Given the description of an element on the screen output the (x, y) to click on. 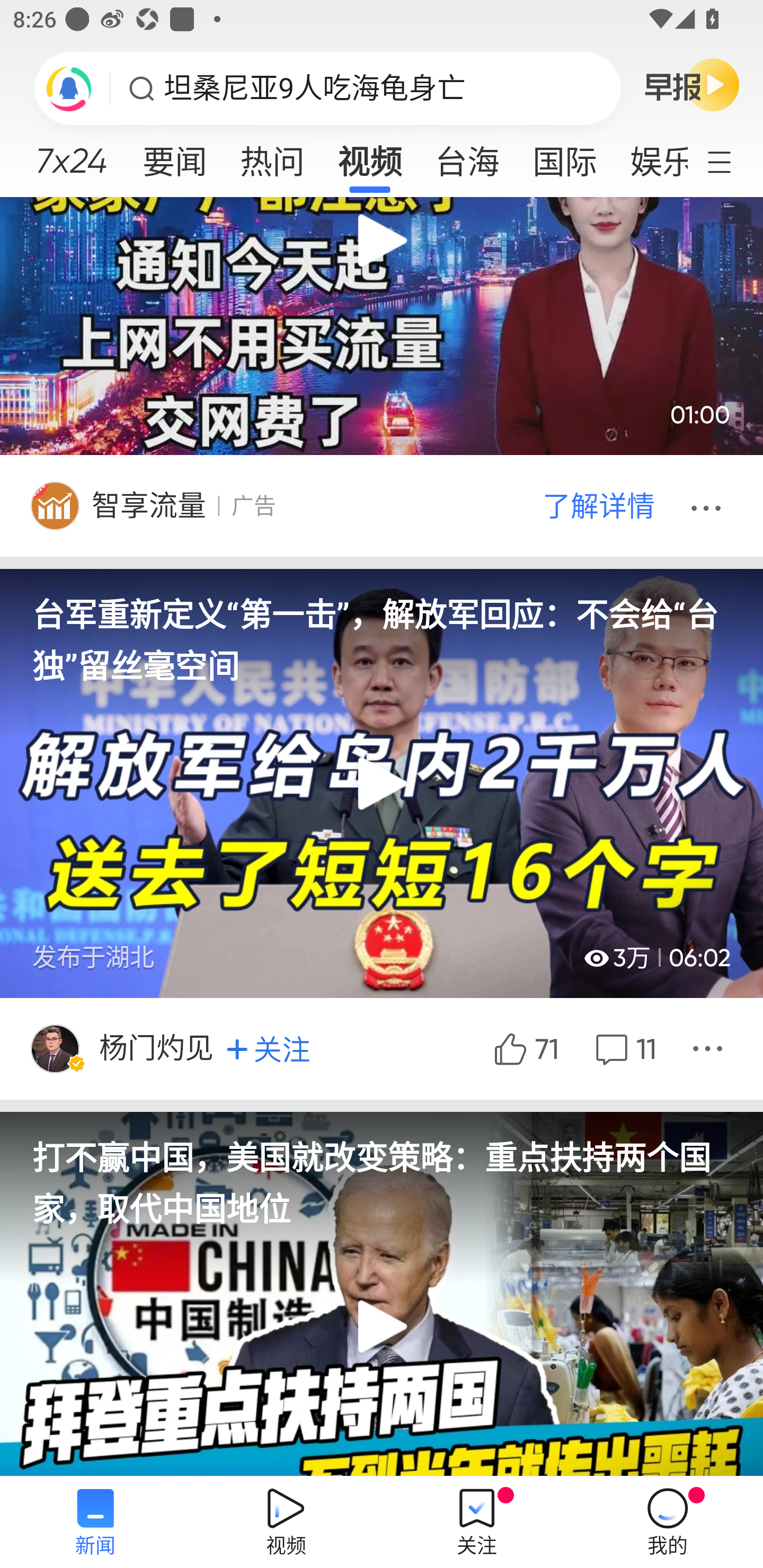
早晚报 (691, 84)
刷新 (68, 88)
坦桑尼亚9人吃海龟身亡 (314, 88)
7x24 (70, 154)
要闻 (174, 155)
热问 (272, 155)
视频 (369, 155)
台海 (466, 155)
国际 (564, 155)
娱乐 (650, 155)
 定制频道 (731, 160)
播放,教你一招，快速使用5G网络！ 01:00 智享流量 广告 了解详情  不感兴趣 (381, 376)
了解详情 (598, 504)
 不感兴趣 (708, 504)
台军重新定义“第一击”，解放军回应：不会给“台独”留丝毫空间 (381, 628)
71赞 (524, 1048)
评论  11 (623, 1048)
分享  (709, 1048)
杨门灼见 (157, 1047)
关注 (268, 1048)
打不赢中国，美国就改变策略：重点扶持两个国家，取代中国地位 (381, 1170)
